Given the description of an element on the screen output the (x, y) to click on. 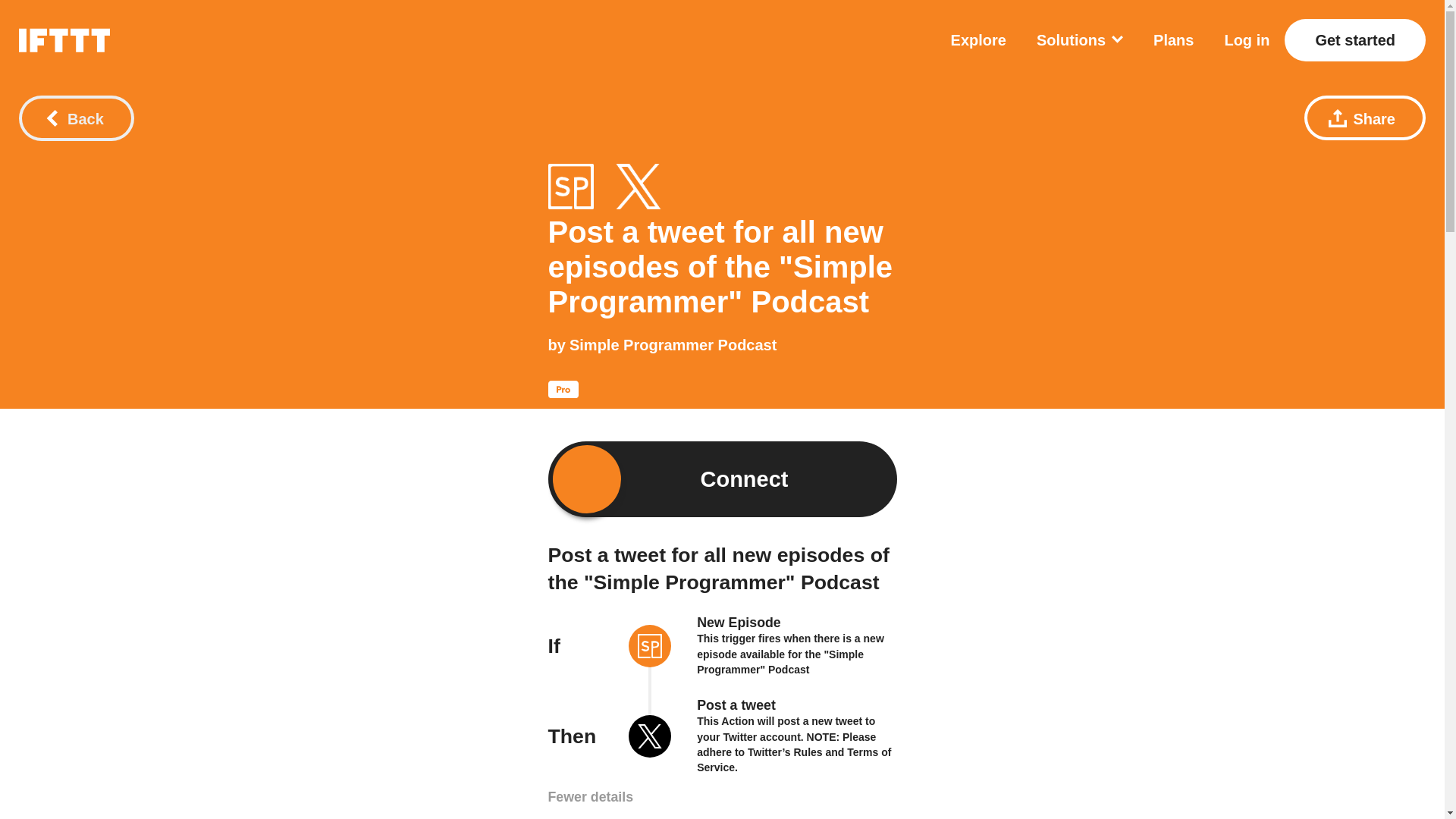
Post a tweet (736, 704)
Explore (978, 39)
Back (75, 117)
Twitter Post a tweet. (638, 186)
Fewer details (590, 797)
Plans (1173, 39)
New Episode (738, 622)
Share (1364, 117)
Simple Programmer Podcast (649, 647)
Home (64, 40)
Twitter (649, 737)
Simple Programmer Podcast New Episode. (569, 186)
Get started (1354, 39)
Solutions (1079, 39)
New Episode (738, 622)
